Given the description of an element on the screen output the (x, y) to click on. 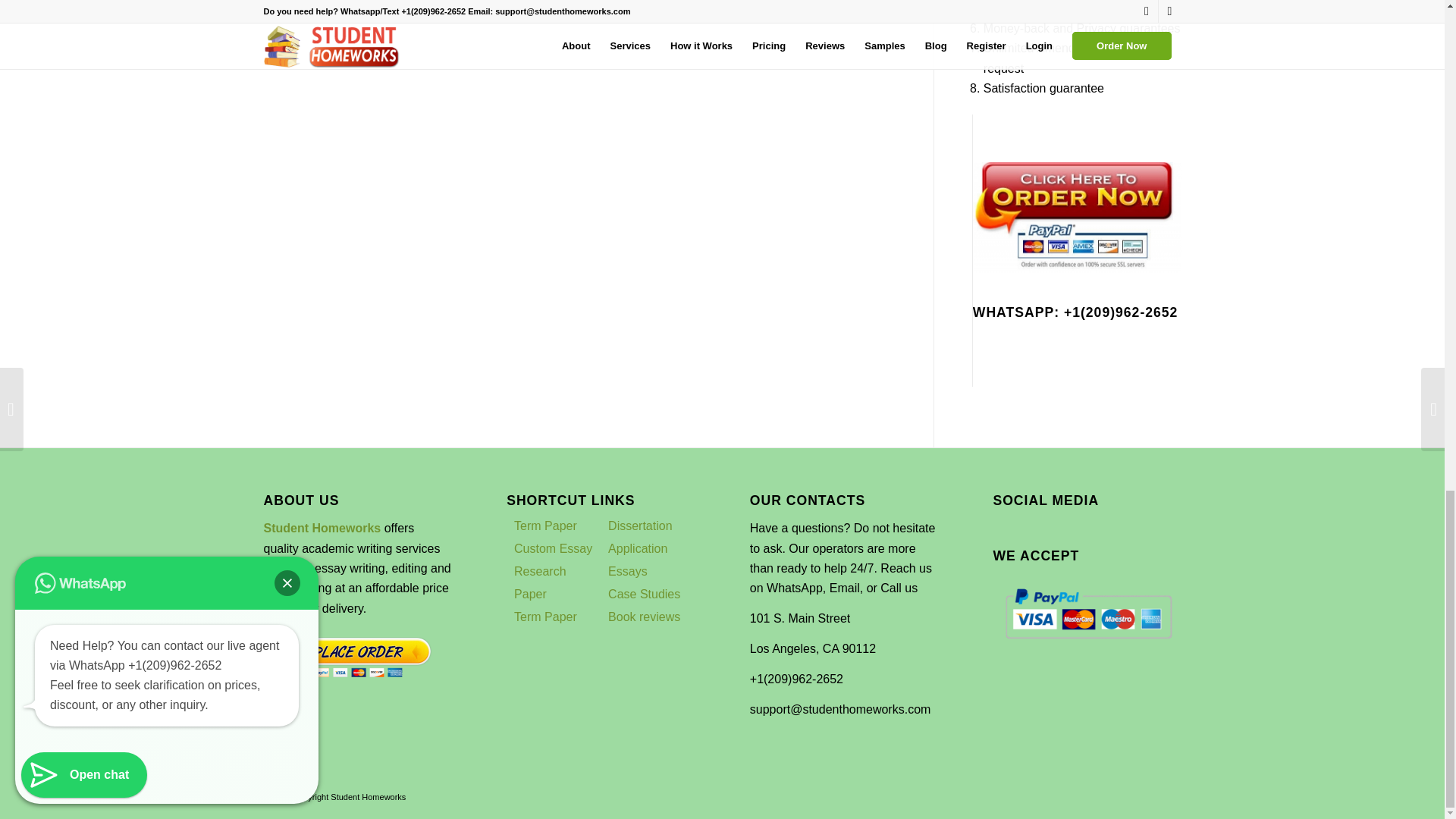
Dissertation (639, 525)
Term Paper (544, 525)
Research Paper (539, 582)
Custom Essay (552, 548)
Application Essays (637, 560)
Book reviews (643, 616)
Term Paper (544, 616)
Case Studies (643, 594)
